Given the description of an element on the screen output the (x, y) to click on. 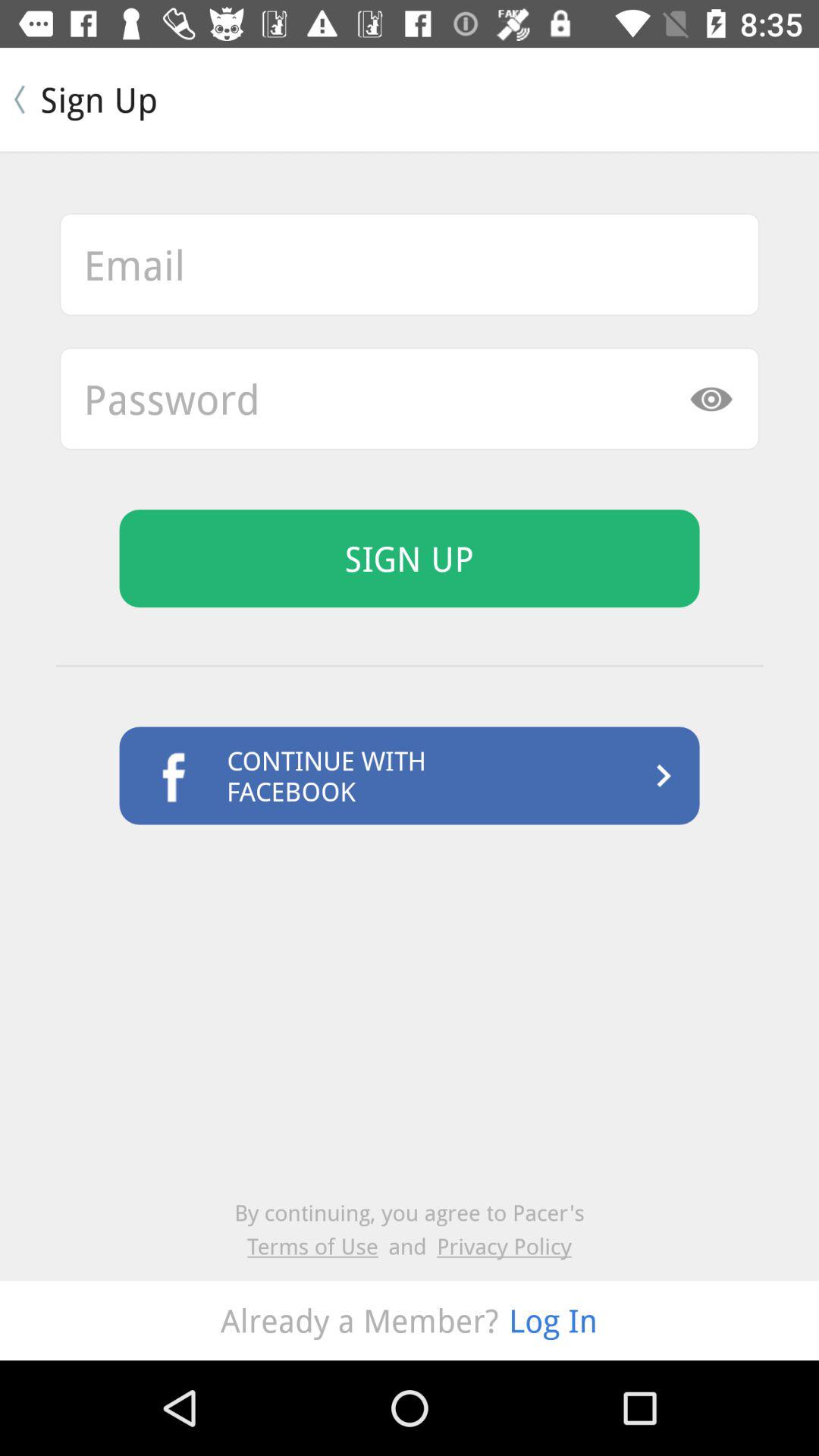
click item next to the and icon (503, 1245)
